Given the description of an element on the screen output the (x, y) to click on. 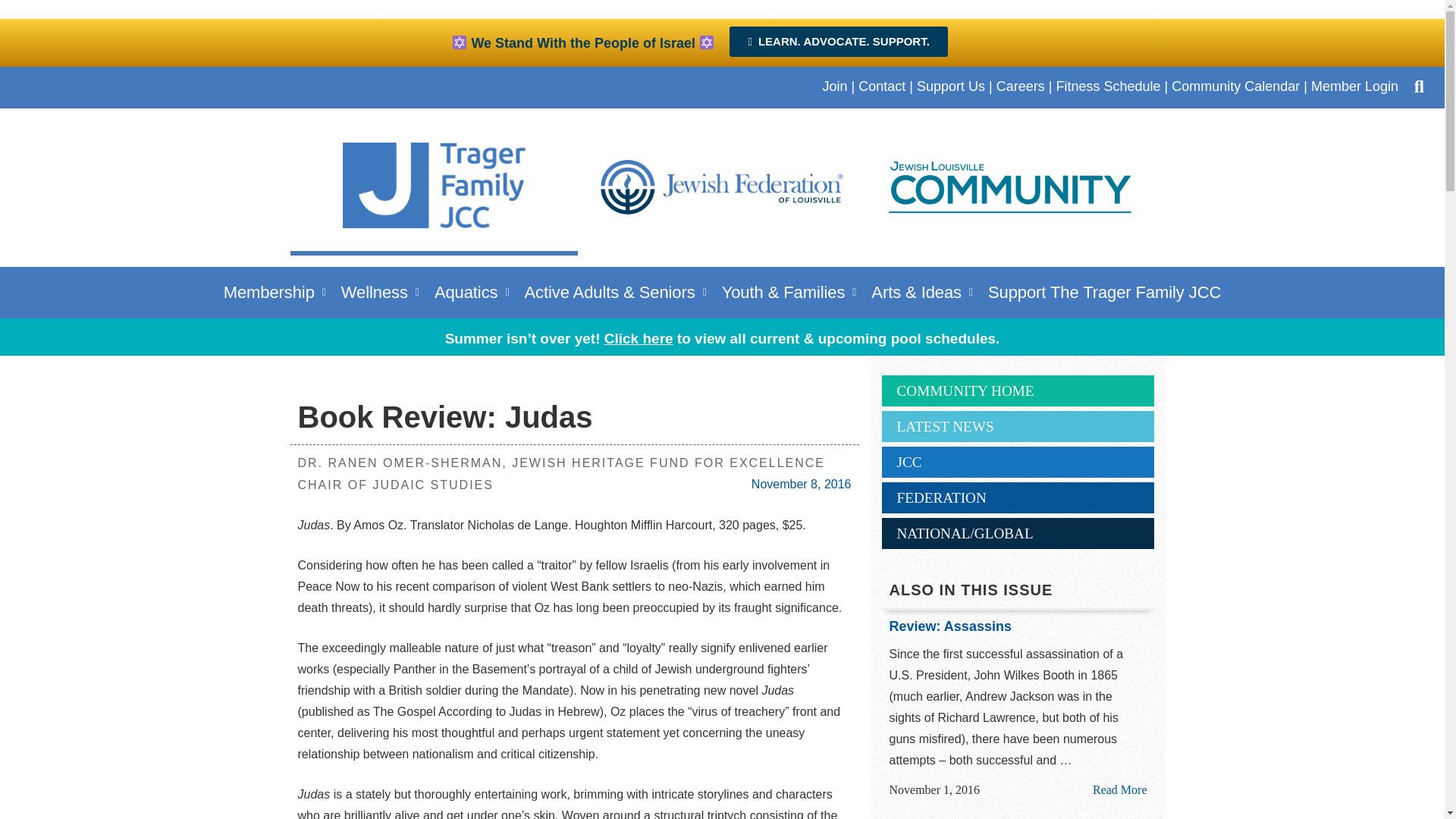
Support Us (951, 86)
Review: Assassins (1120, 789)
Wellness (379, 292)
Fitness Schedule (1107, 86)
Review: Assassins (1017, 627)
Careers (1020, 86)
Member Login (1354, 86)
Contact (882, 86)
Join (834, 86)
12:11 pm (801, 484)
